Given the description of an element on the screen output the (x, y) to click on. 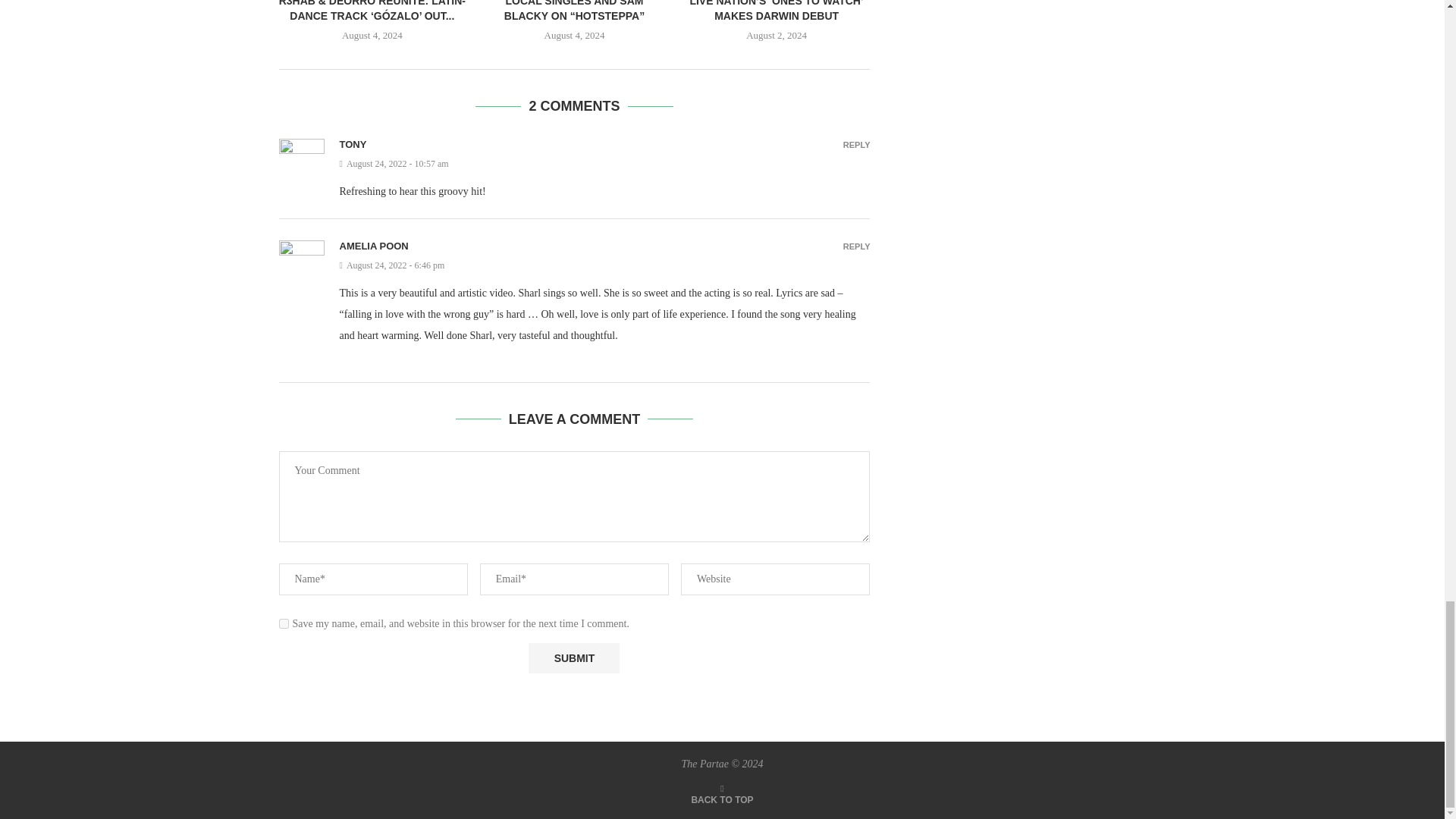
yes (283, 623)
Submit (574, 658)
